Given the description of an element on the screen output the (x, y) to click on. 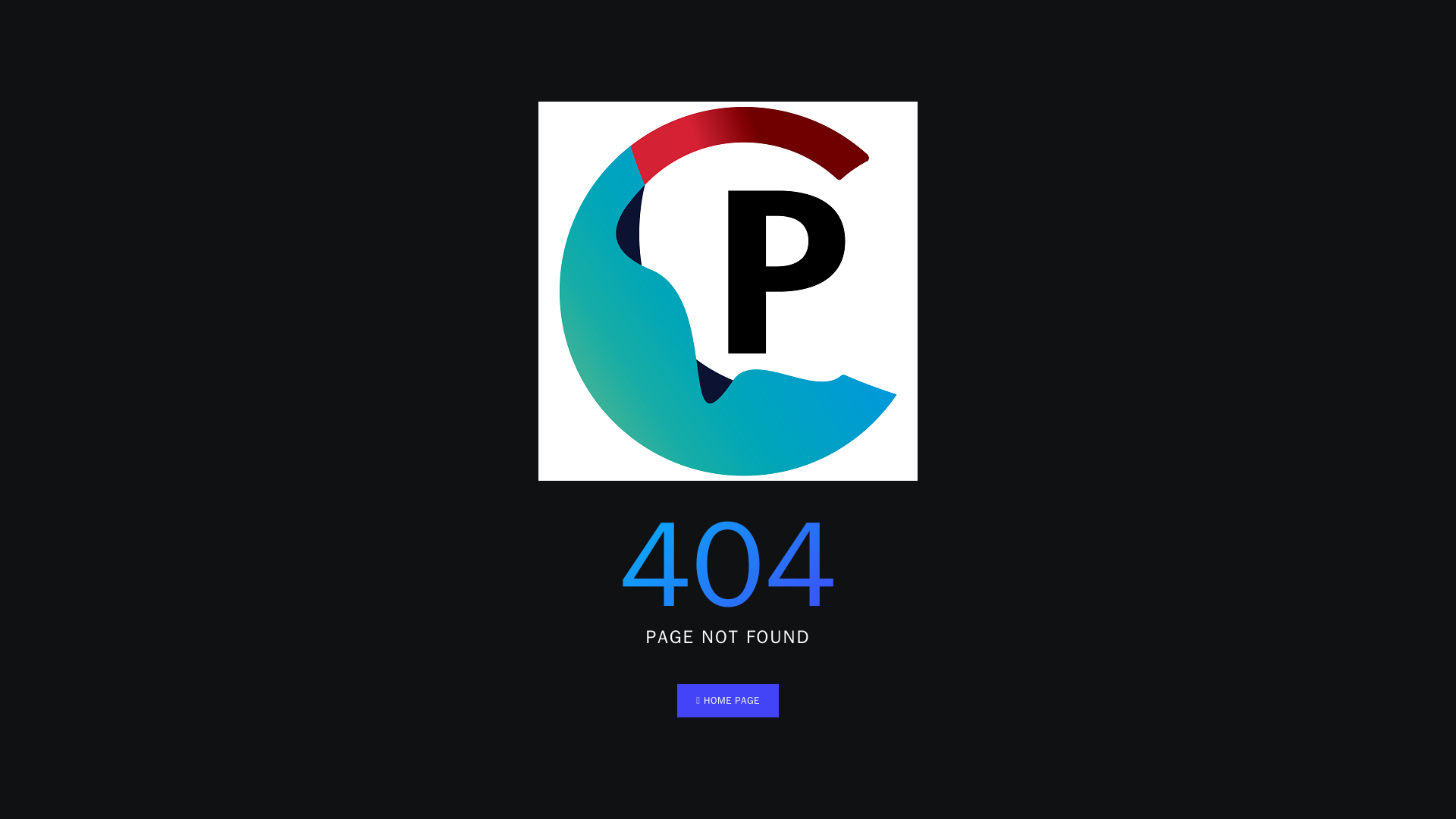
HOME PAGE (727, 700)
